Given the description of an element on the screen output the (x, y) to click on. 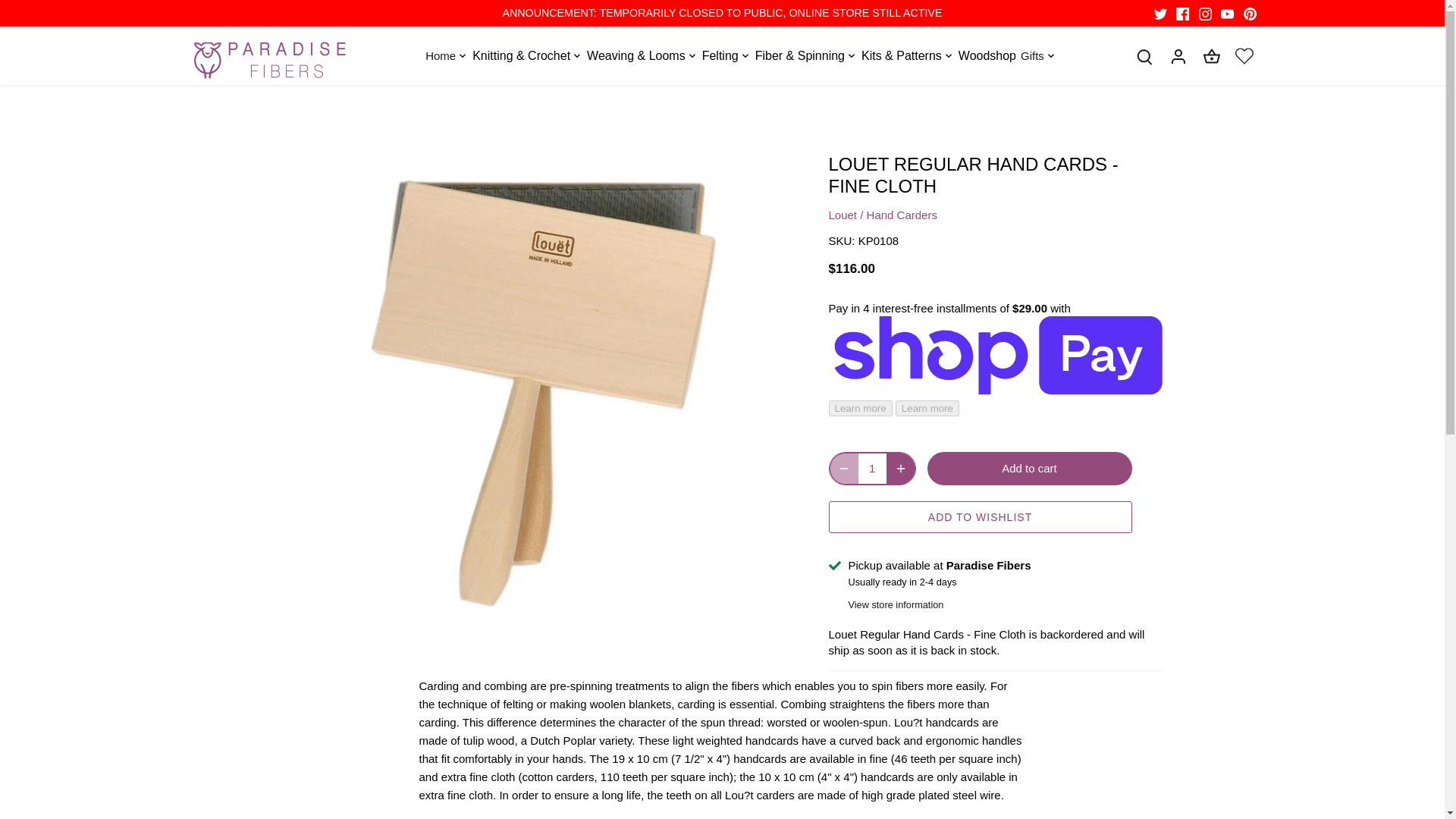
1 (872, 468)
Youtube (1227, 13)
Home (439, 55)
Facebook (1182, 13)
Instagram (1204, 13)
Pinterest (1249, 13)
Twitter (1160, 13)
